Given the description of an element on the screen output the (x, y) to click on. 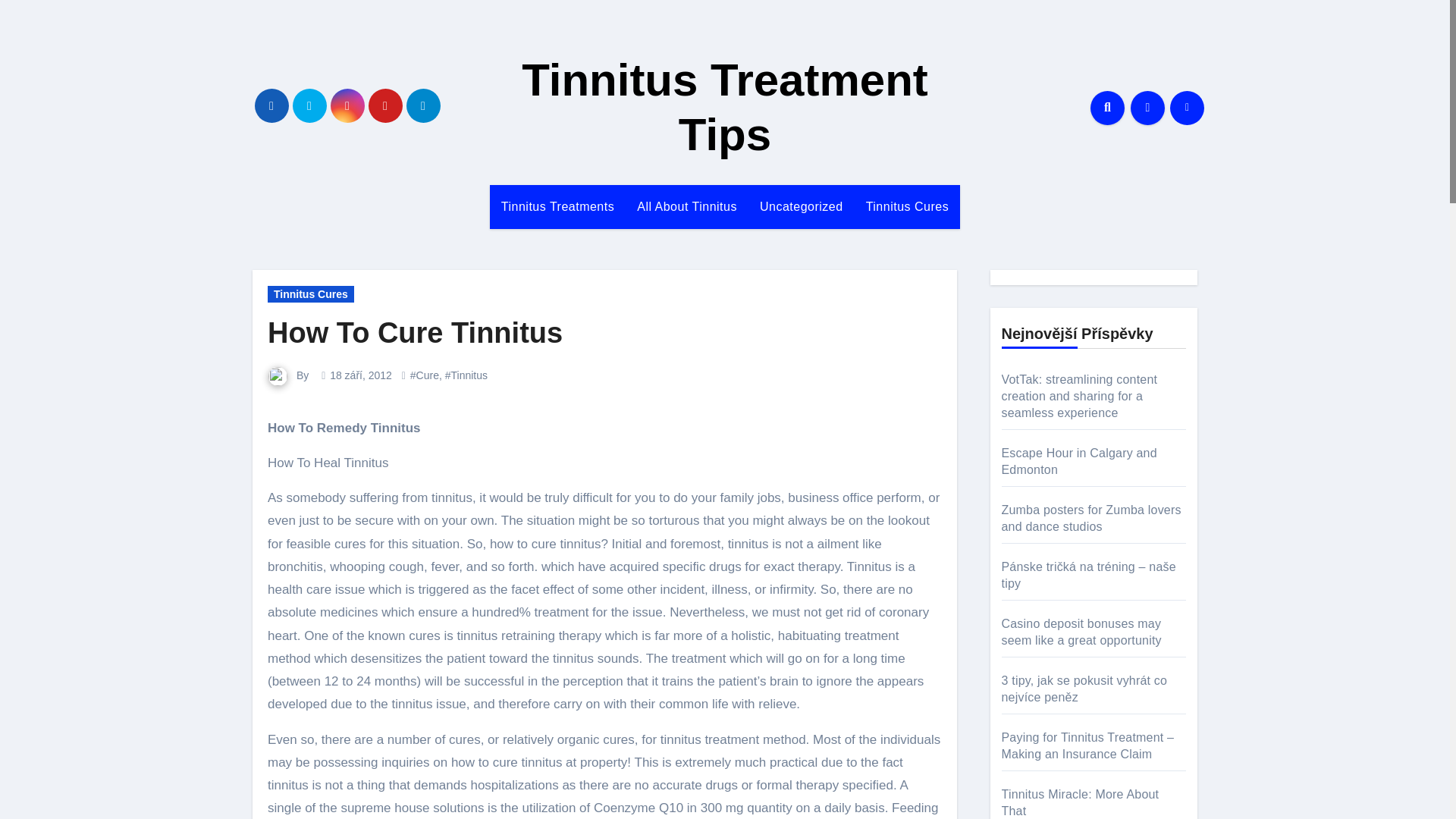
Uncategorized (801, 207)
Tinnitus Cures (907, 207)
Tinnitus Treatment Tips (724, 106)
Permalink to: How To Cure Tinnitus (414, 332)
Tinnitus Treatments (557, 207)
How To Cure Tinnitus (414, 332)
Uncategorized (801, 207)
Tinnitus Treatments (557, 207)
Tinnitus Cures (907, 207)
All About Tinnitus (687, 207)
Tinnitus Cures (310, 293)
All About Tinnitus (687, 207)
